Given the description of an element on the screen output the (x, y) to click on. 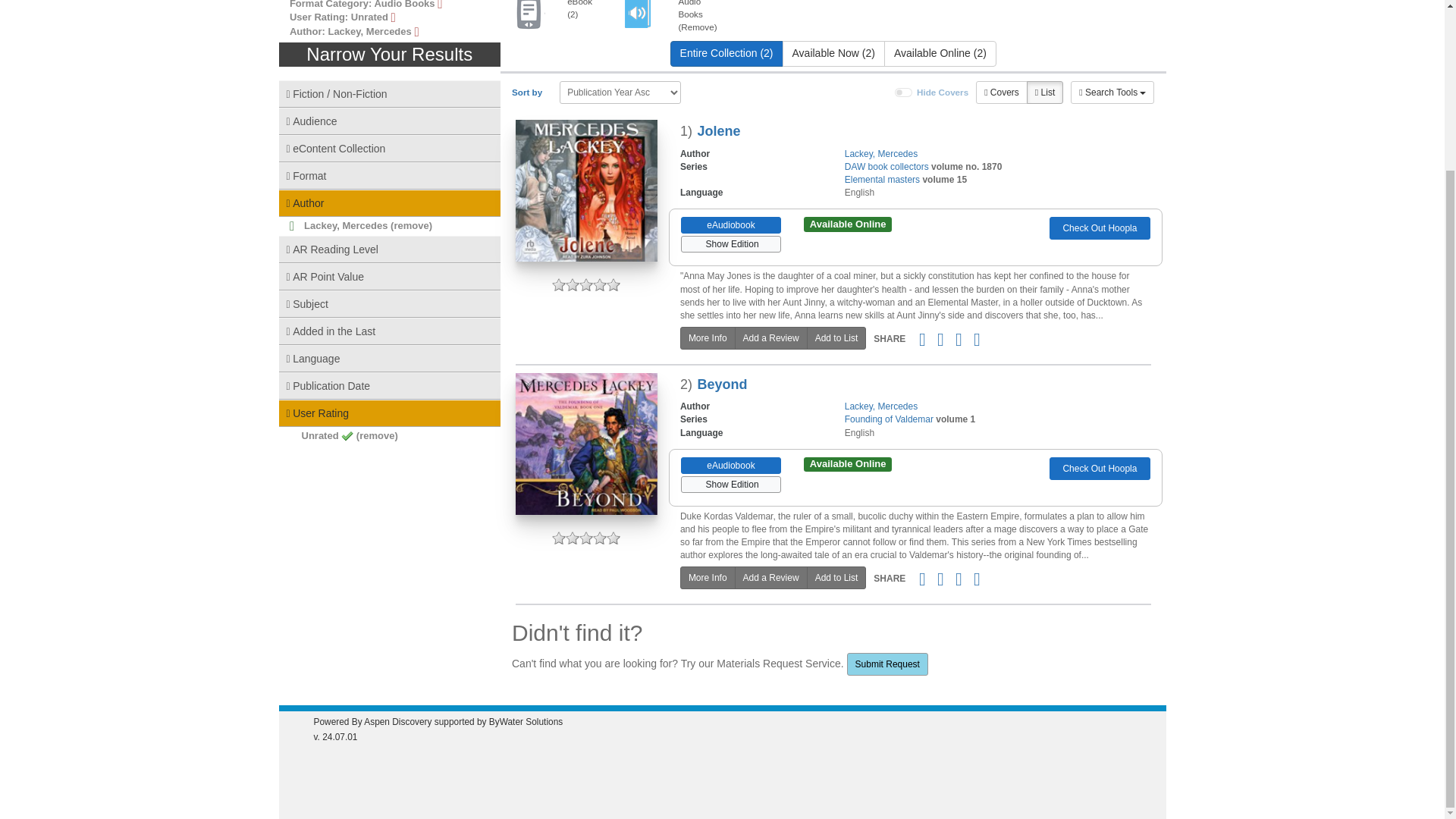
on (903, 92)
Covers (1001, 92)
Lists (1044, 92)
Remove Filter (666, 16)
